Given the description of an element on the screen output the (x, y) to click on. 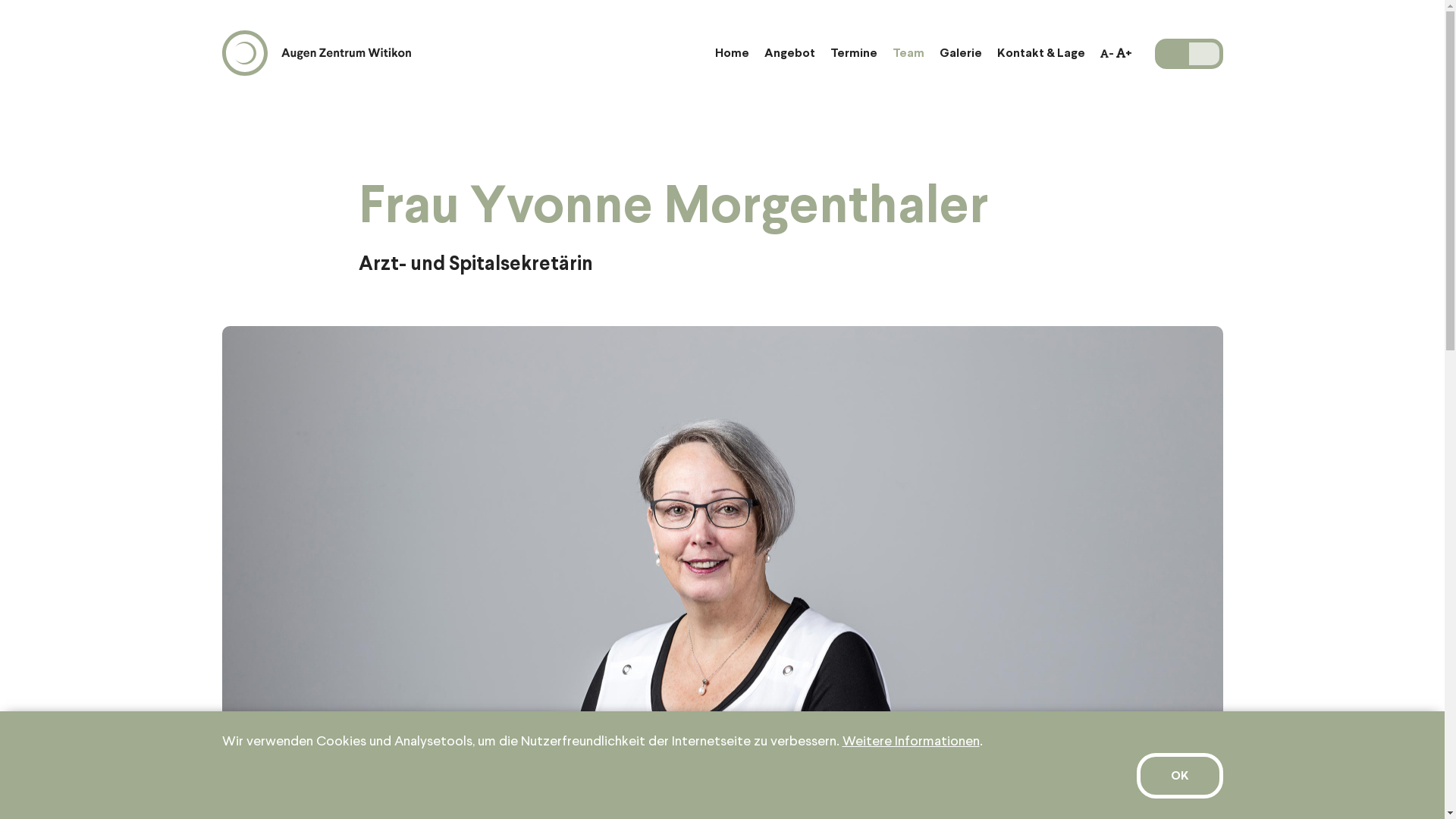
Termine Element type: text (853, 52)
Angebot Element type: text (789, 52)
+ Element type: text (1124, 52)
Home Element type: text (731, 52)
Team Element type: text (907, 52)
OK Element type: text (1178, 775)
Galerie Element type: text (959, 52)
Weitere Informationen Element type: text (910, 741)
Kontakt & Lage Element type: text (1040, 52)
- Element type: text (1106, 52)
AugenZentrumWitikon Element type: text (315, 52)
